Given the description of an element on the screen output the (x, y) to click on. 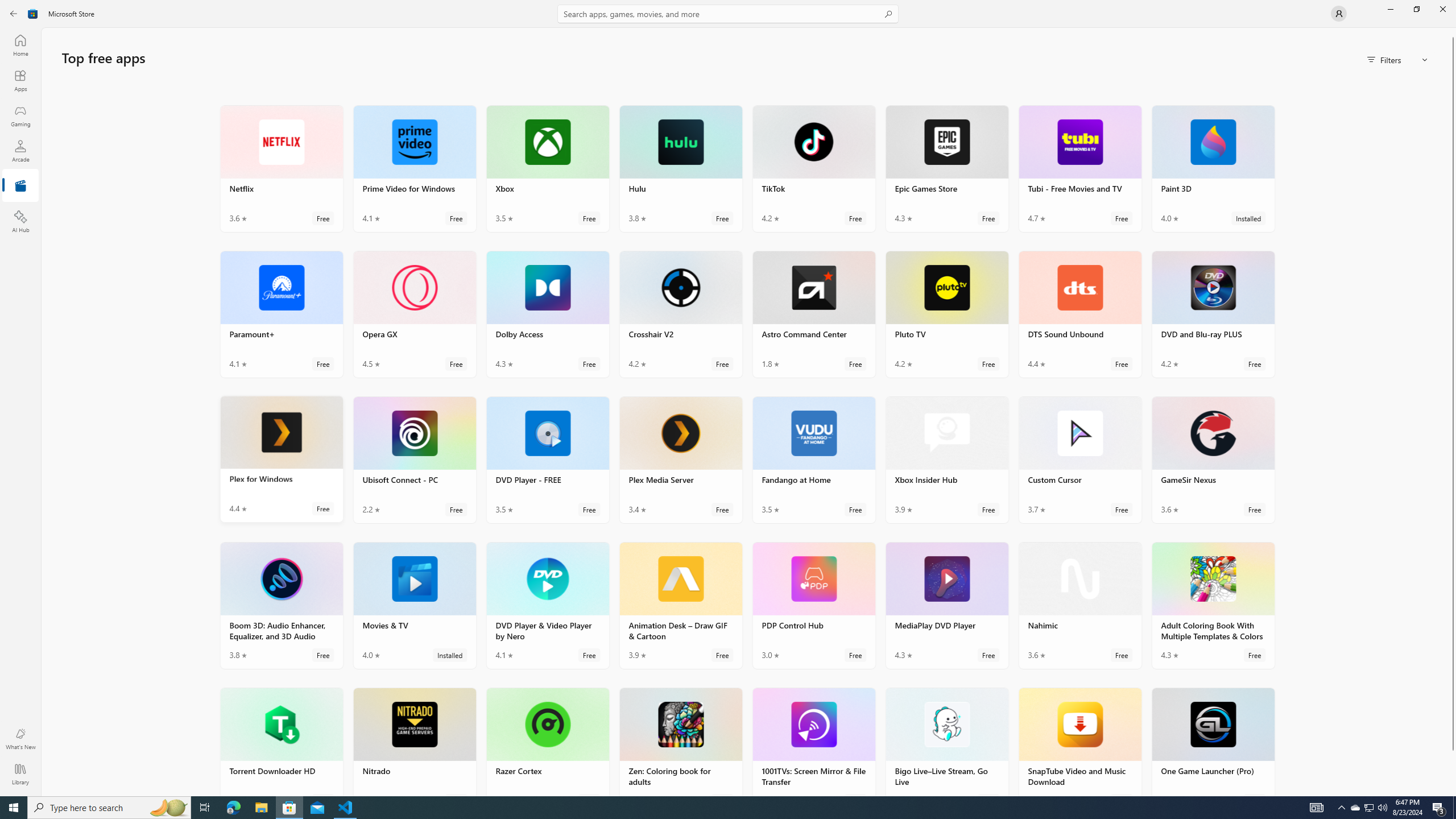
Entertainment (20, 185)
Apps (20, 80)
TikTok. Average rating of 4.2 out of five stars. Free   (813, 167)
Xbox. Average rating of 3.5 out of five stars. Free   (548, 167)
Filters (1397, 59)
Pluto TV. Average rating of 4.2 out of five stars. Free   (947, 313)
Gaming (20, 115)
Paramount+. Average rating of 4.1 out of five stars. Free   (281, 313)
Class: Image (32, 13)
Home (20, 45)
